Given the description of an element on the screen output the (x, y) to click on. 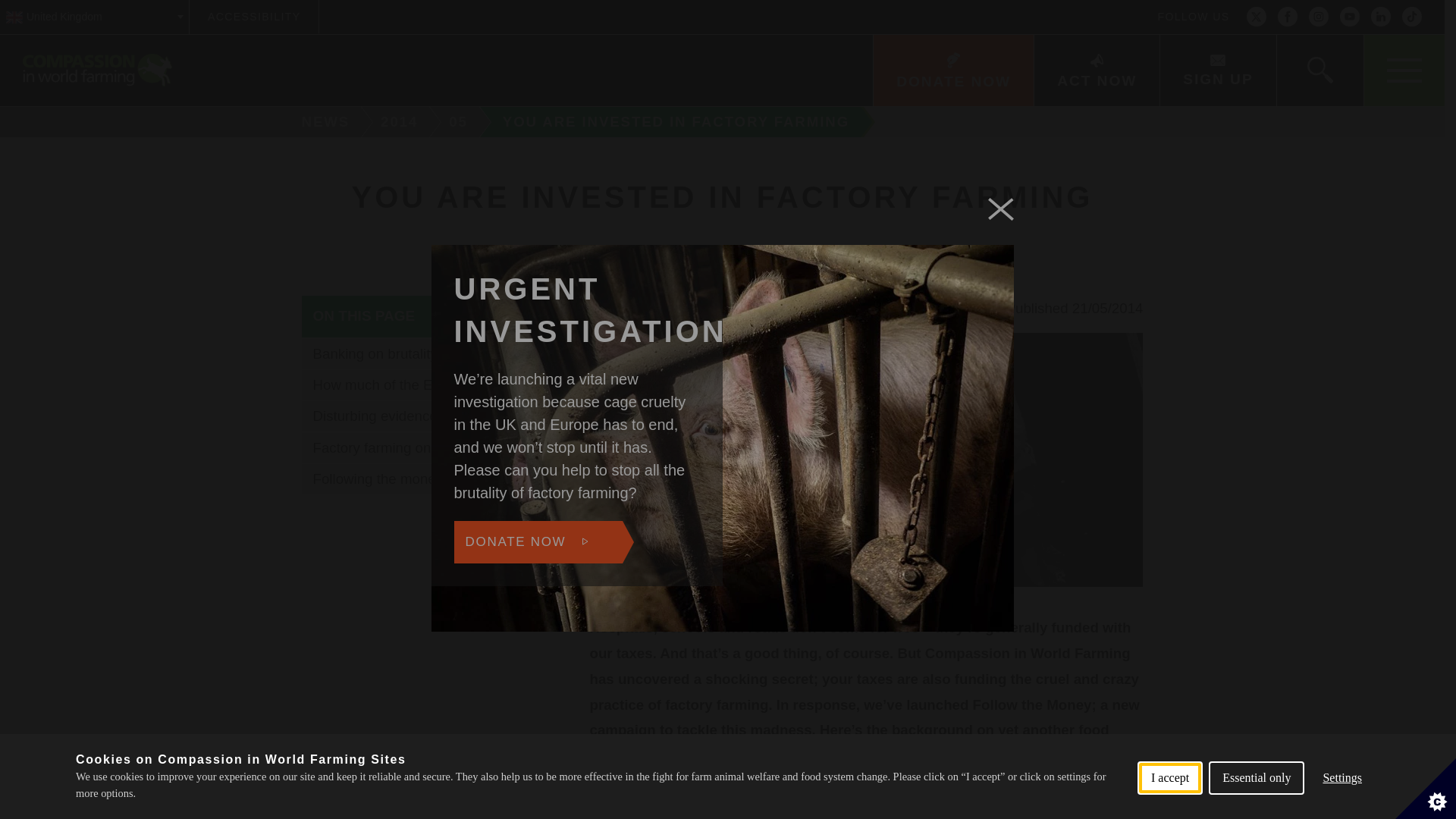
United Kingdom (94, 16)
2014 (401, 122)
Skip to Content (778, 1)
Twitter (1255, 16)
TikTok (1412, 16)
I accept (1169, 811)
YouTube (1350, 16)
ACCESSIBILITY (253, 16)
DONATE NOW (952, 70)
Facebook (1287, 16)
Instagram (1318, 16)
Essential only (1256, 808)
05 (460, 122)
SIGN UP (1216, 70)
Settings (1342, 802)
